Given the description of an element on the screen output the (x, y) to click on. 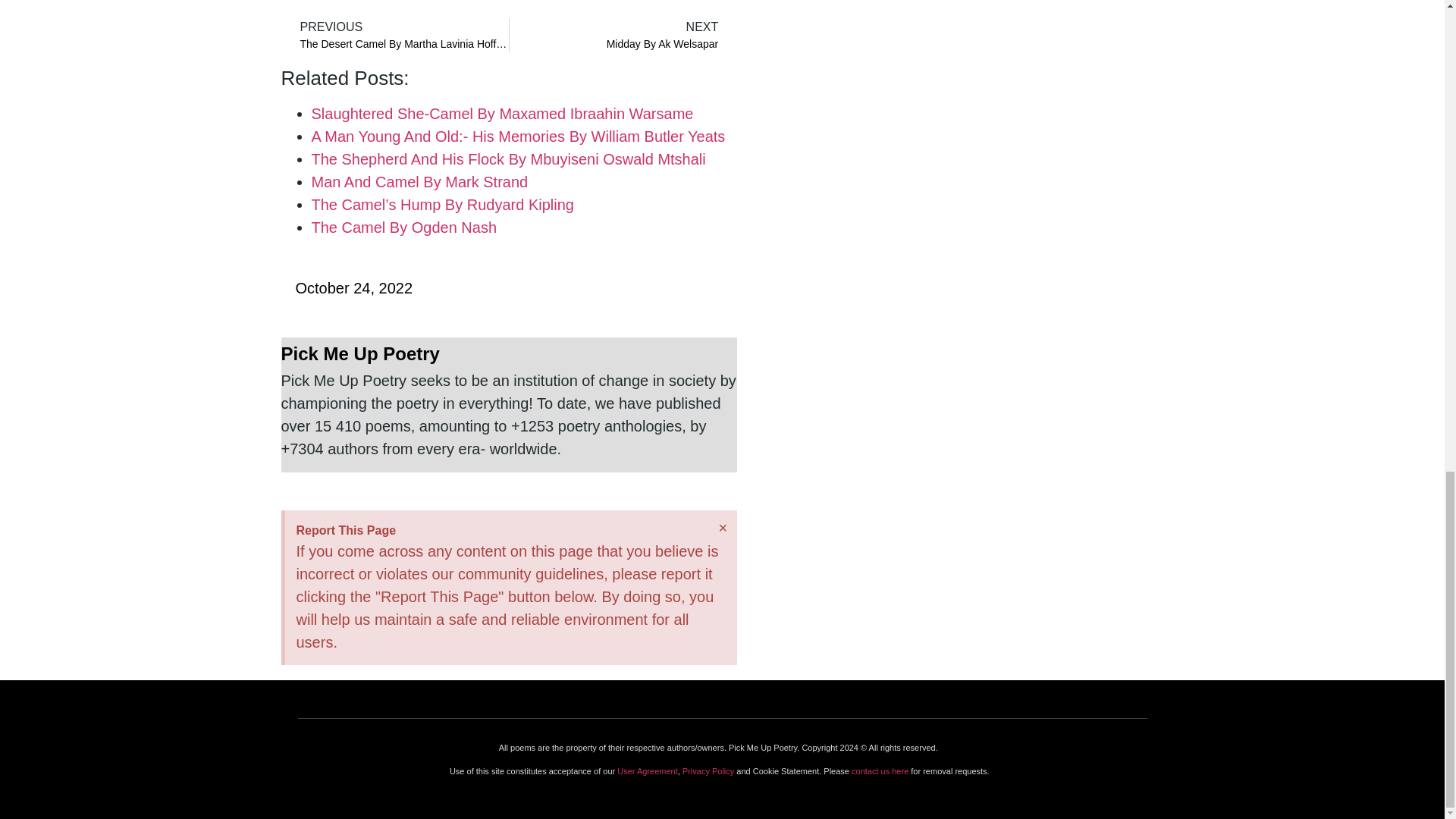
The Camel By Ogden Nash (403, 227)
A Man Young And Old:- His Memories By William Butler Yeats (619, 35)
The Shepherd And His Flock By Mbuyiseni Oswald Mtshali (398, 35)
October 24, 2022 (518, 135)
Pick Me Up Poetry (507, 158)
Slaughtered She-Camel By Maxamed Ibraahin Warsame (346, 287)
Man And Camel By Mark Strand (508, 354)
